Given the description of an element on the screen output the (x, y) to click on. 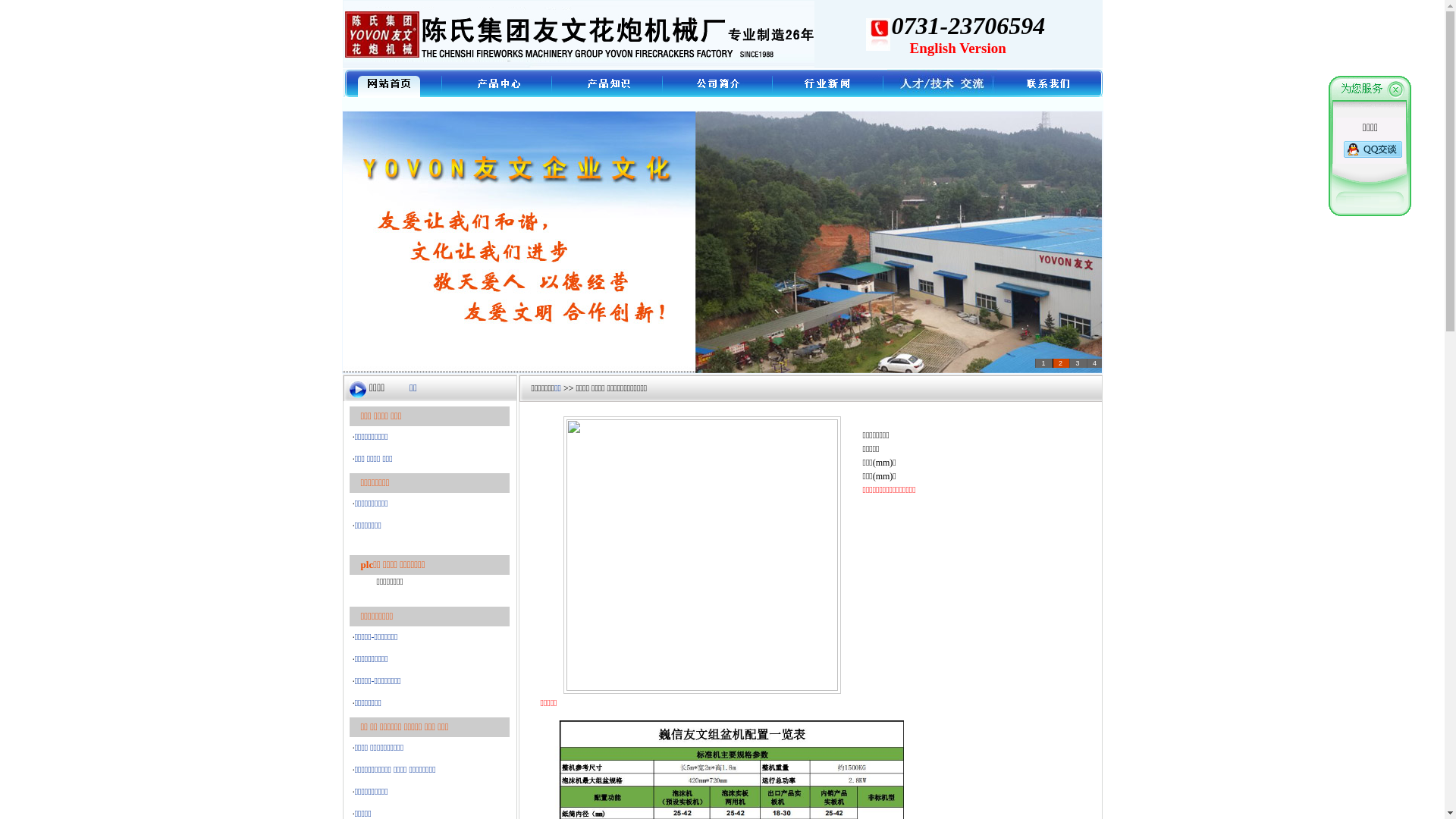
3 Element type: text (1077, 362)
1 Element type: text (1043, 362)
2 Element type: text (1061, 362)
English Version Element type: text (958, 47)
4 Element type: text (1093, 362)
